Given the description of an element on the screen output the (x, y) to click on. 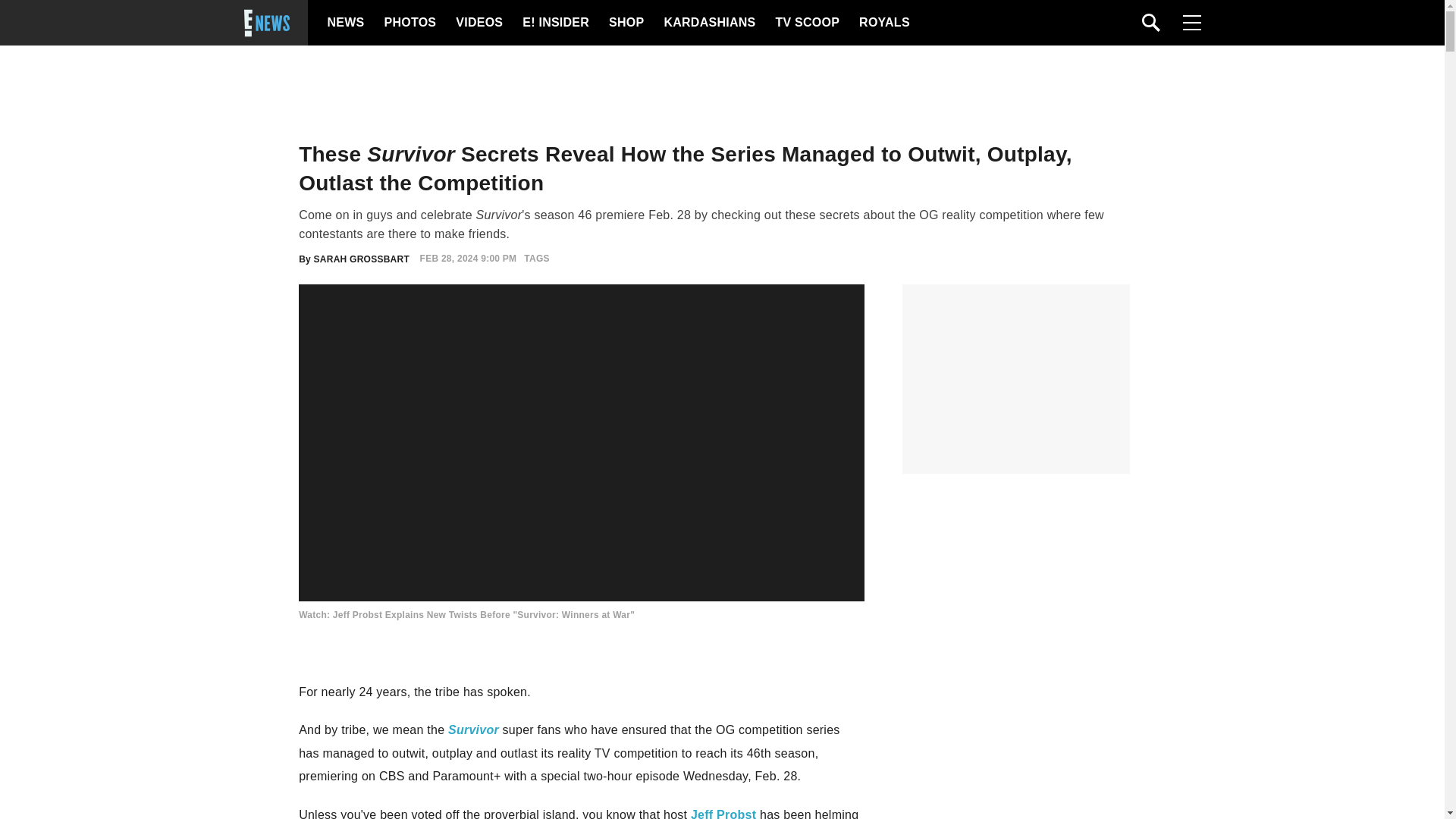
NEWS (345, 22)
KARDASHIANS (708, 22)
Jeff Probst (722, 813)
Survivor (473, 729)
VIDEOS (478, 22)
SARAH GROSSBART (361, 258)
PHOTOS (408, 22)
TV SCOOP (806, 22)
SHOP (625, 22)
E! INSIDER (555, 22)
